Given the description of an element on the screen output the (x, y) to click on. 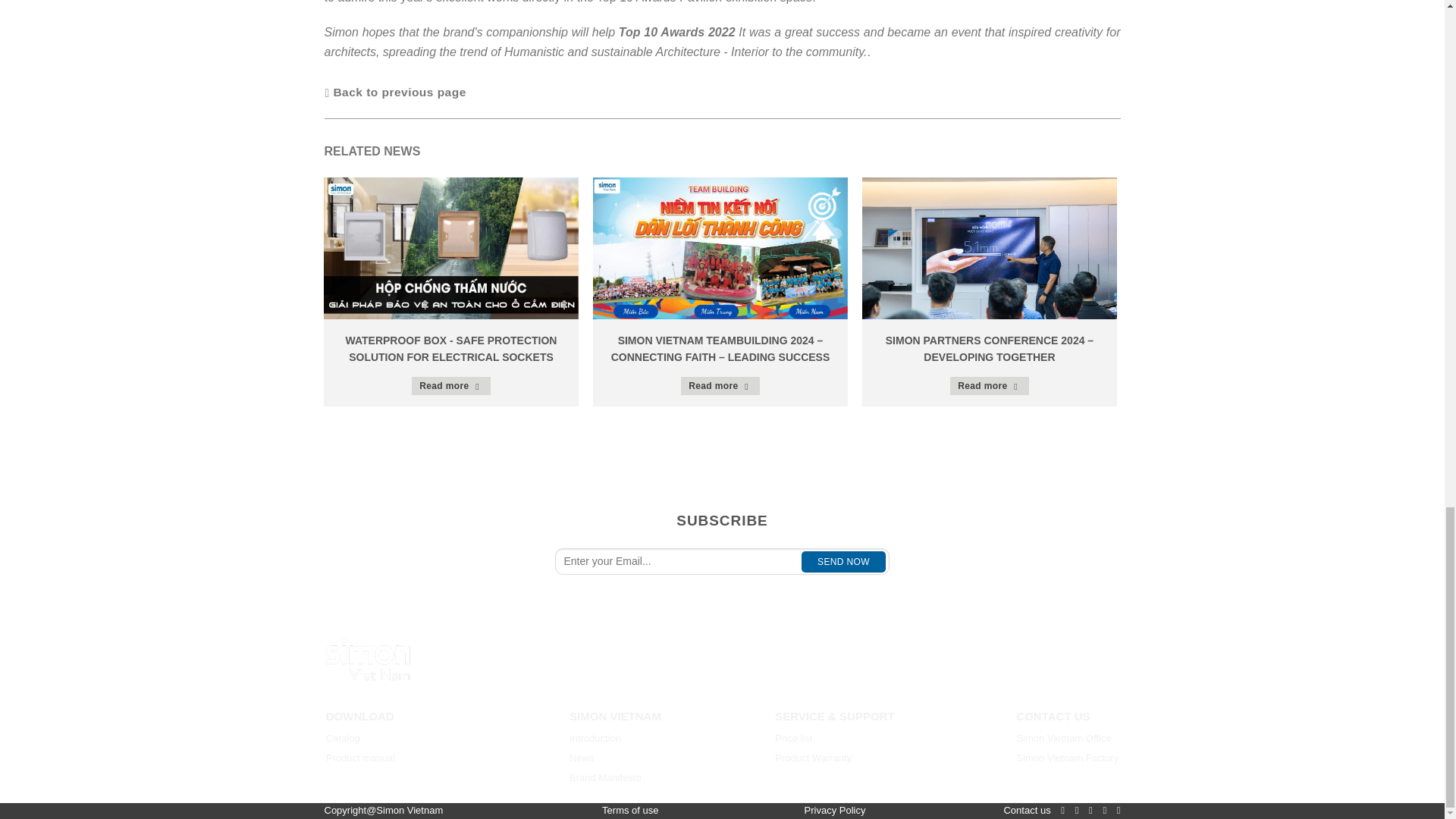
Read more (720, 385)
Read more (989, 385)
Read more (451, 385)
Back to previous page (395, 91)
0968 111 900 (622, 669)
Send now (843, 561)
Send now (843, 561)
